Given the description of an element on the screen output the (x, y) to click on. 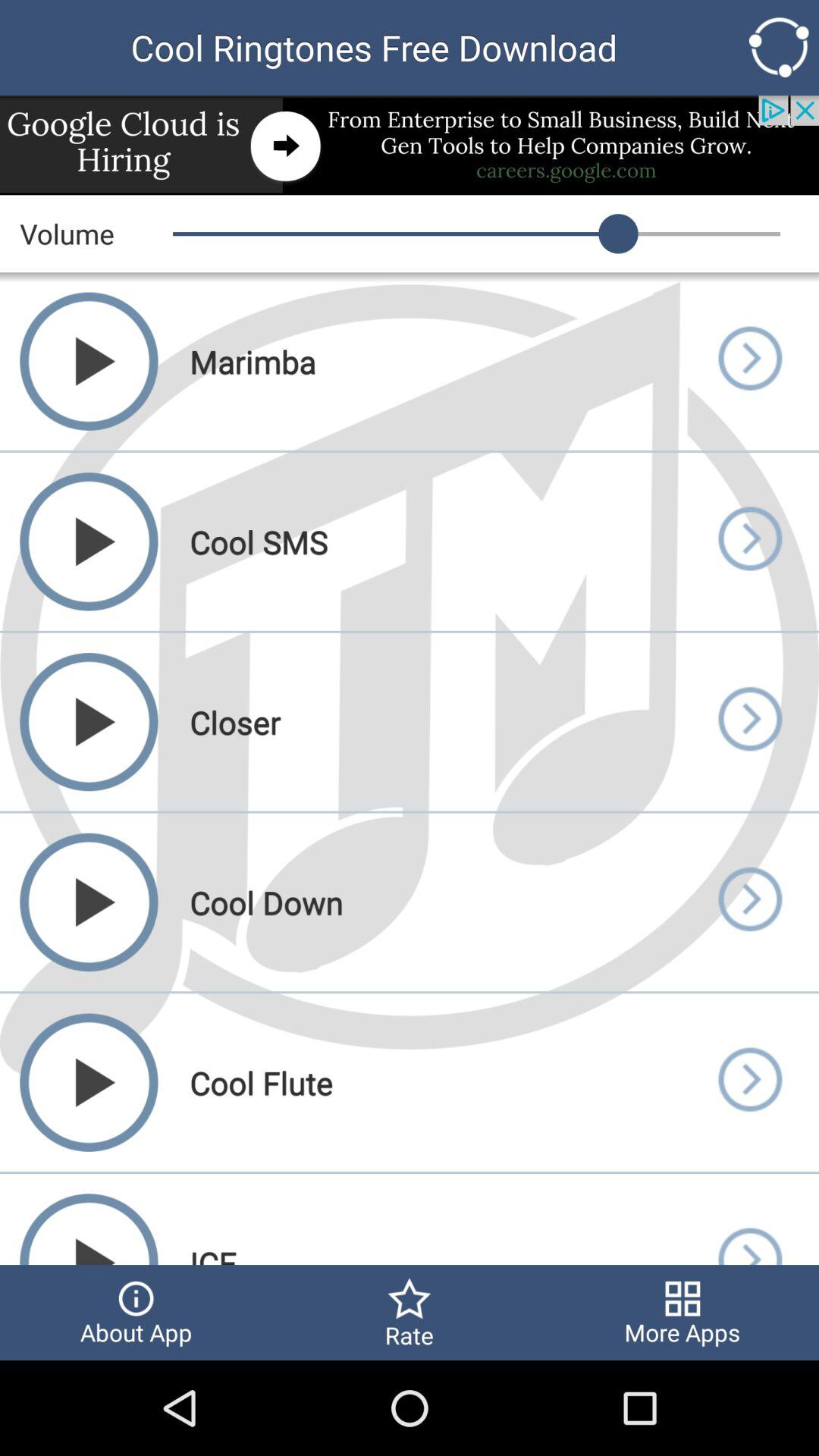
next page (749, 361)
